Given the description of an element on the screen output the (x, y) to click on. 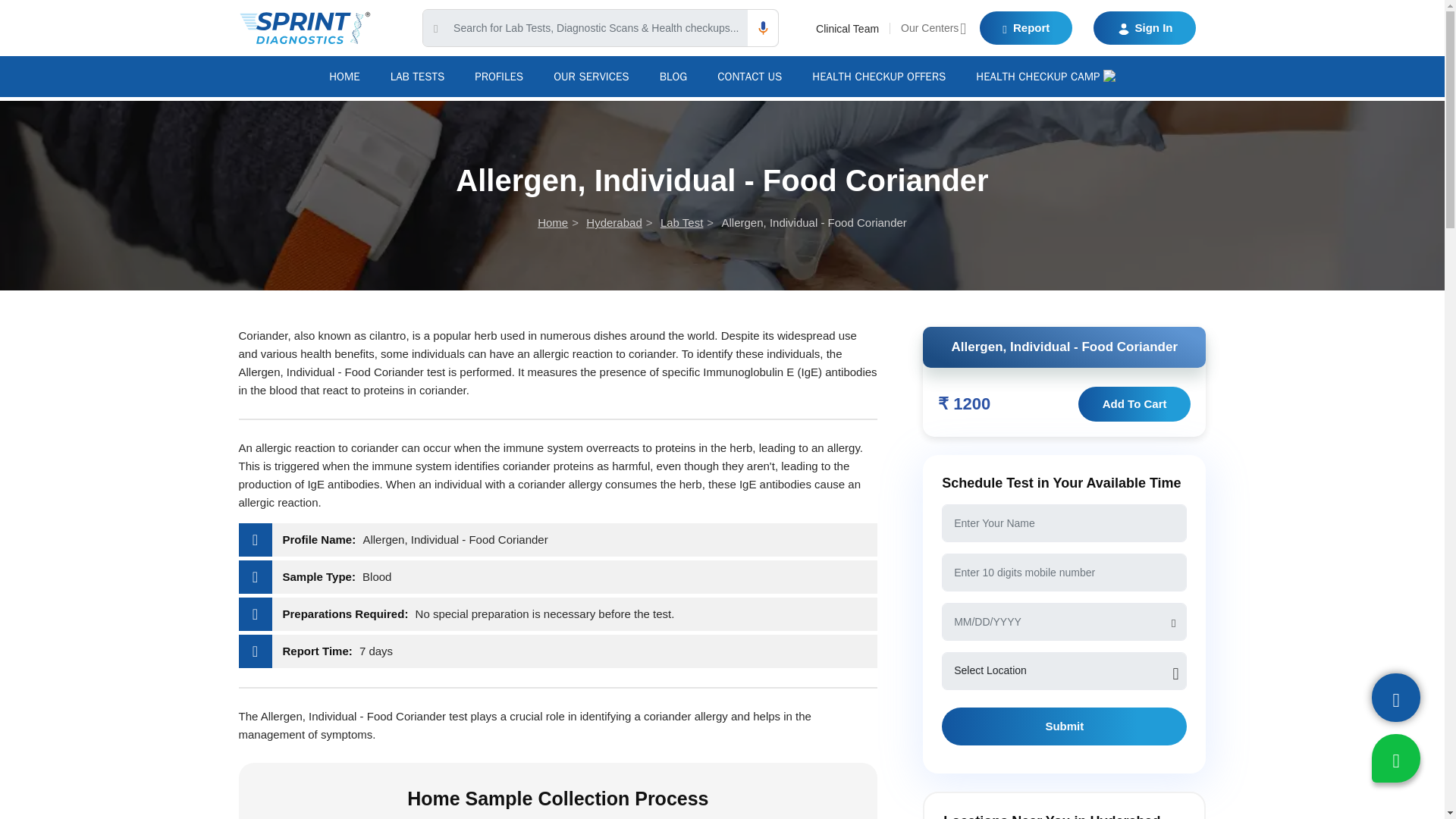
Only numbers are allowed (1064, 572)
Only characters are allowed (1064, 523)
Download Report (1025, 28)
Sign In (1144, 28)
